Given the description of an element on the screen output the (x, y) to click on. 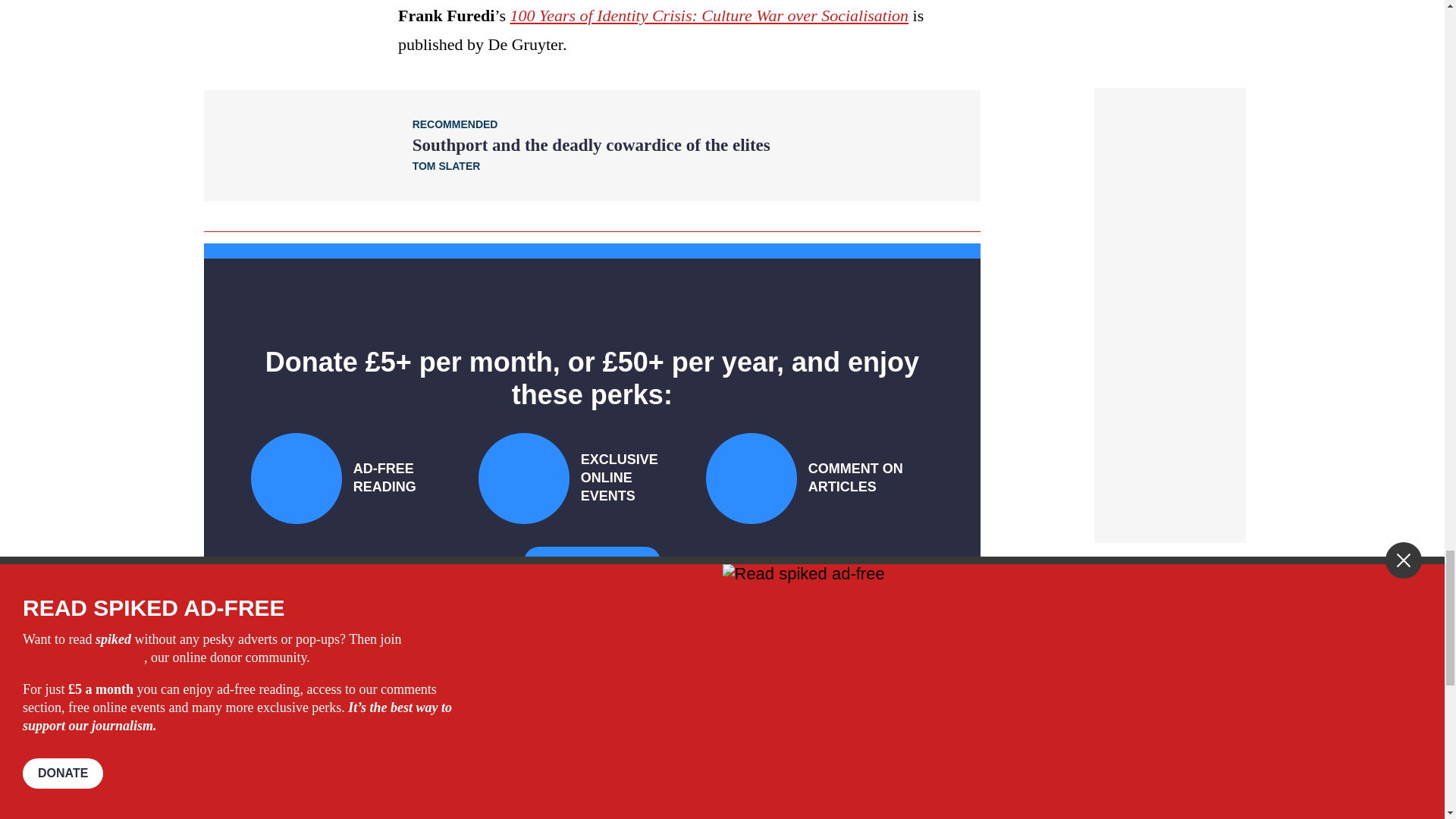
Share on Whatsapp (494, 793)
Share on Twitter (471, 793)
Share on Email (518, 793)
Share on Facebook (448, 793)
